Given the description of an element on the screen output the (x, y) to click on. 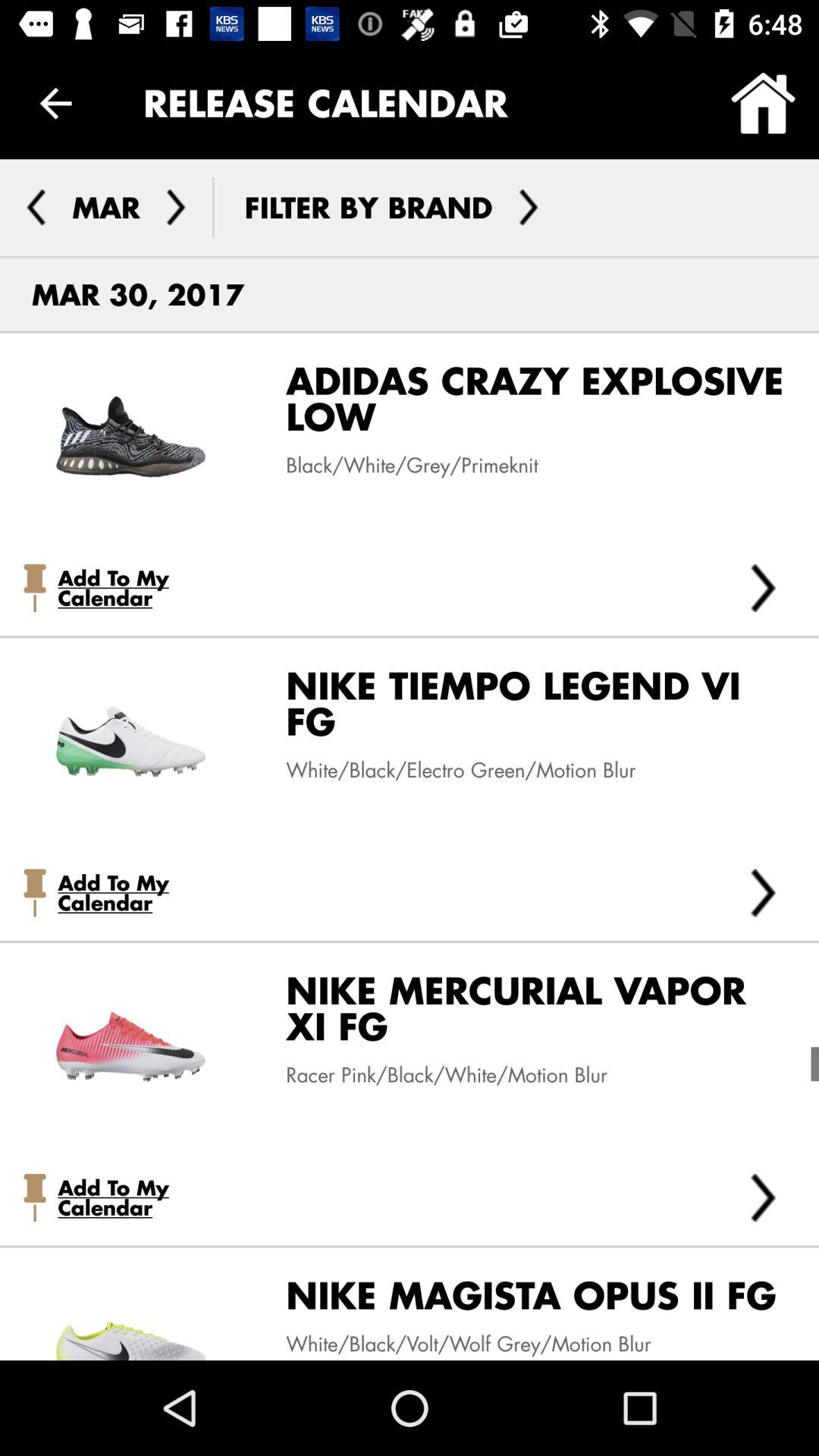
click the icon to the right of the add to my (763, 892)
